Given the description of an element on the screen output the (x, y) to click on. 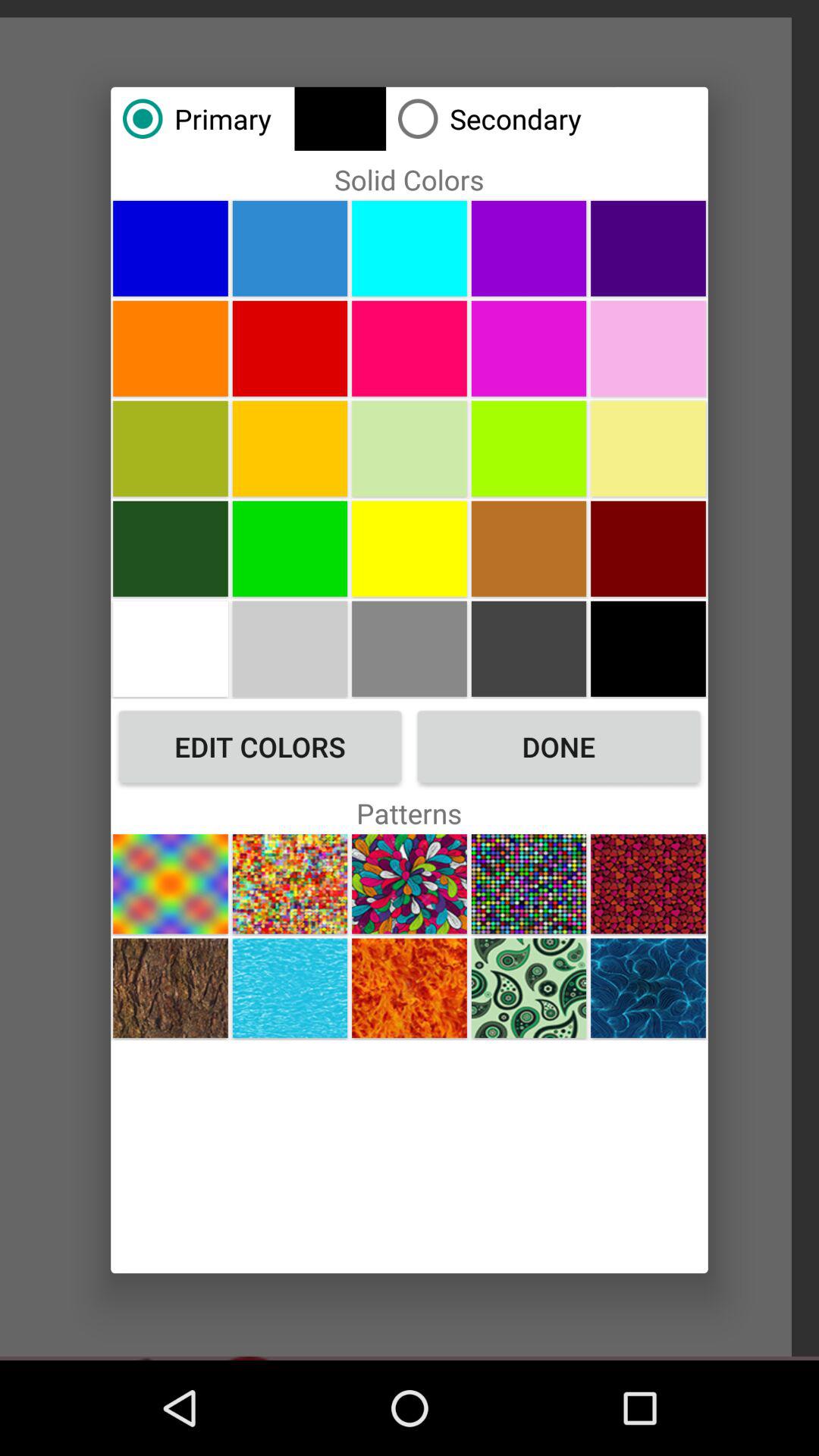
select button above edit colors item (170, 648)
